Given the description of an element on the screen output the (x, y) to click on. 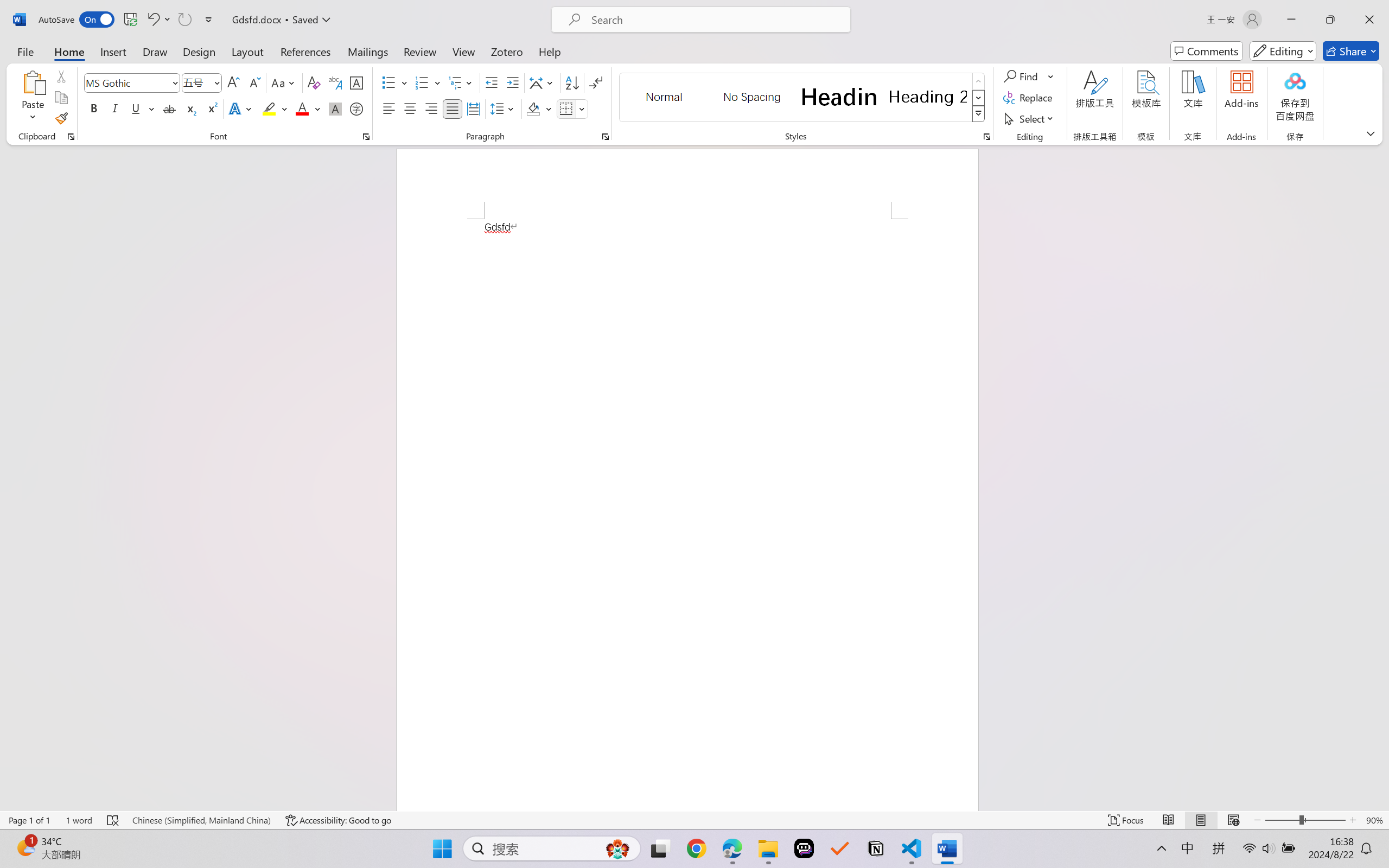
Can't Repeat (184, 19)
